Given the description of an element on the screen output the (x, y) to click on. 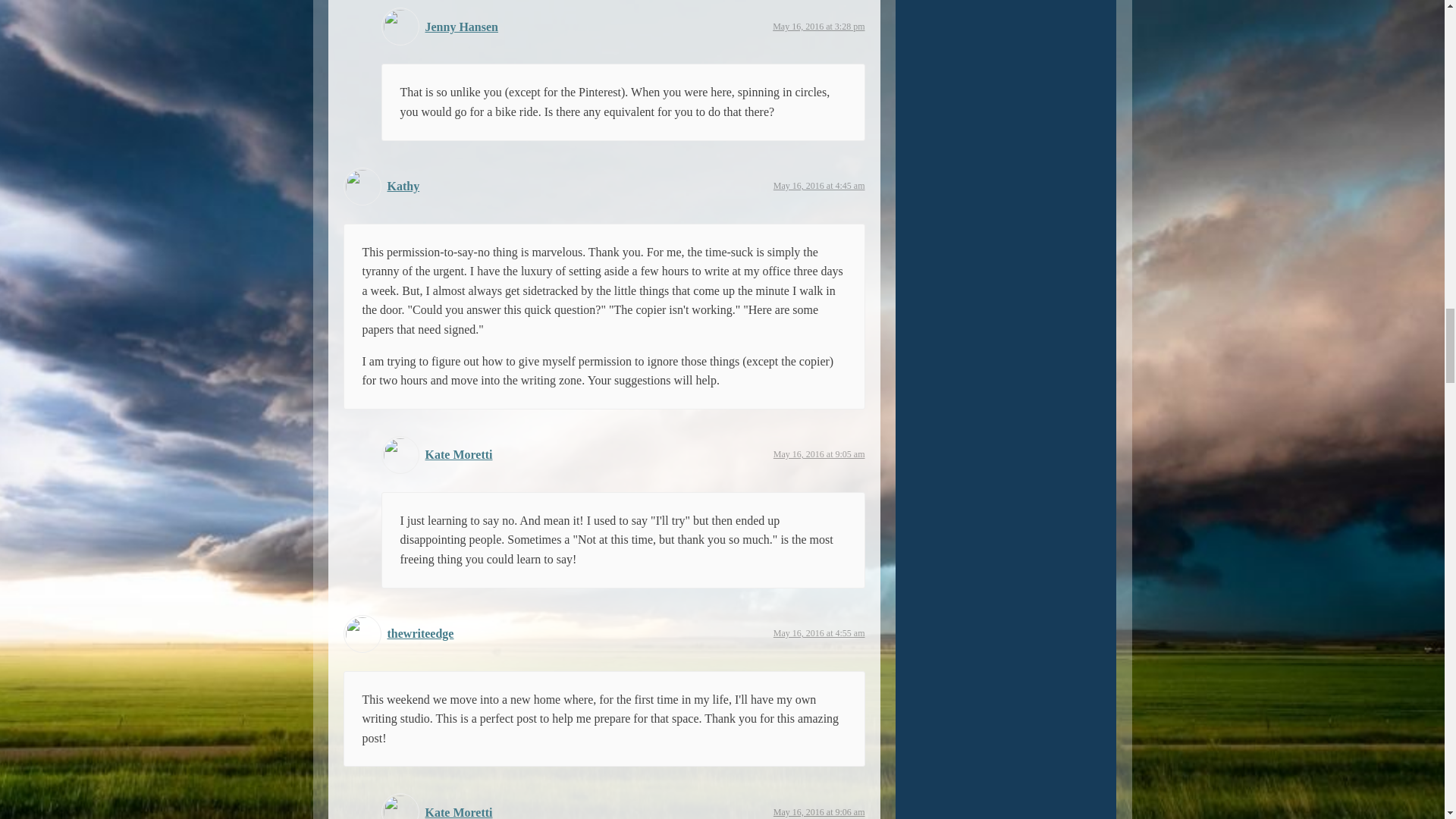
May 16, 2016 at 9:05 am (818, 453)
May 16, 2016 at 3:28 pm (818, 26)
Kathy (403, 185)
May 16, 2016 at 4:55 am (818, 633)
thewriteedge (419, 633)
May 16, 2016 at 4:45 am (818, 185)
Jenny Hansen (461, 26)
Kate Moretti (458, 454)
